Given the description of an element on the screen output the (x, y) to click on. 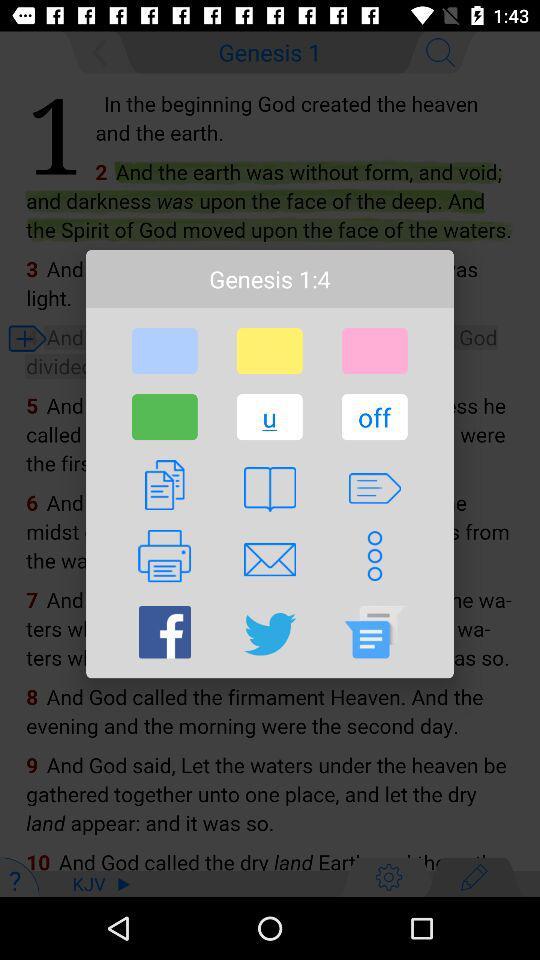
select item to the right of the u icon (374, 417)
